Given the description of an element on the screen output the (x, y) to click on. 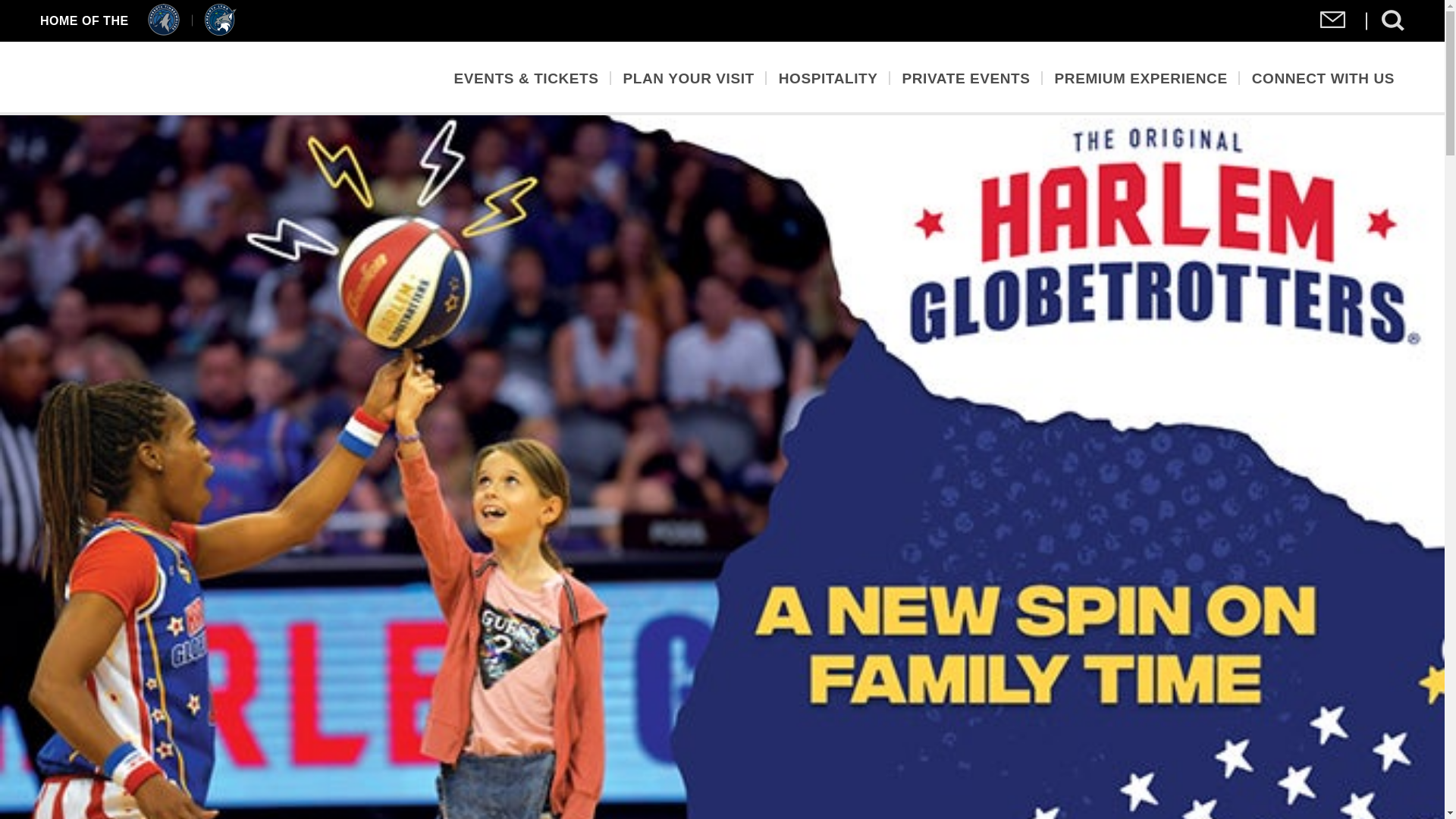
PRIVATE EVENTS (965, 76)
HOSPITALITY (828, 76)
Lynx (220, 31)
PREMIUM EXPERIENCE (1141, 76)
Target Center (163, 77)
Timberwolves (163, 31)
Newsletter (1332, 23)
CONNECT WITH US (1323, 76)
PLAN YOUR VISIT (689, 76)
Target Center (163, 77)
